Given the description of an element on the screen output the (x, y) to click on. 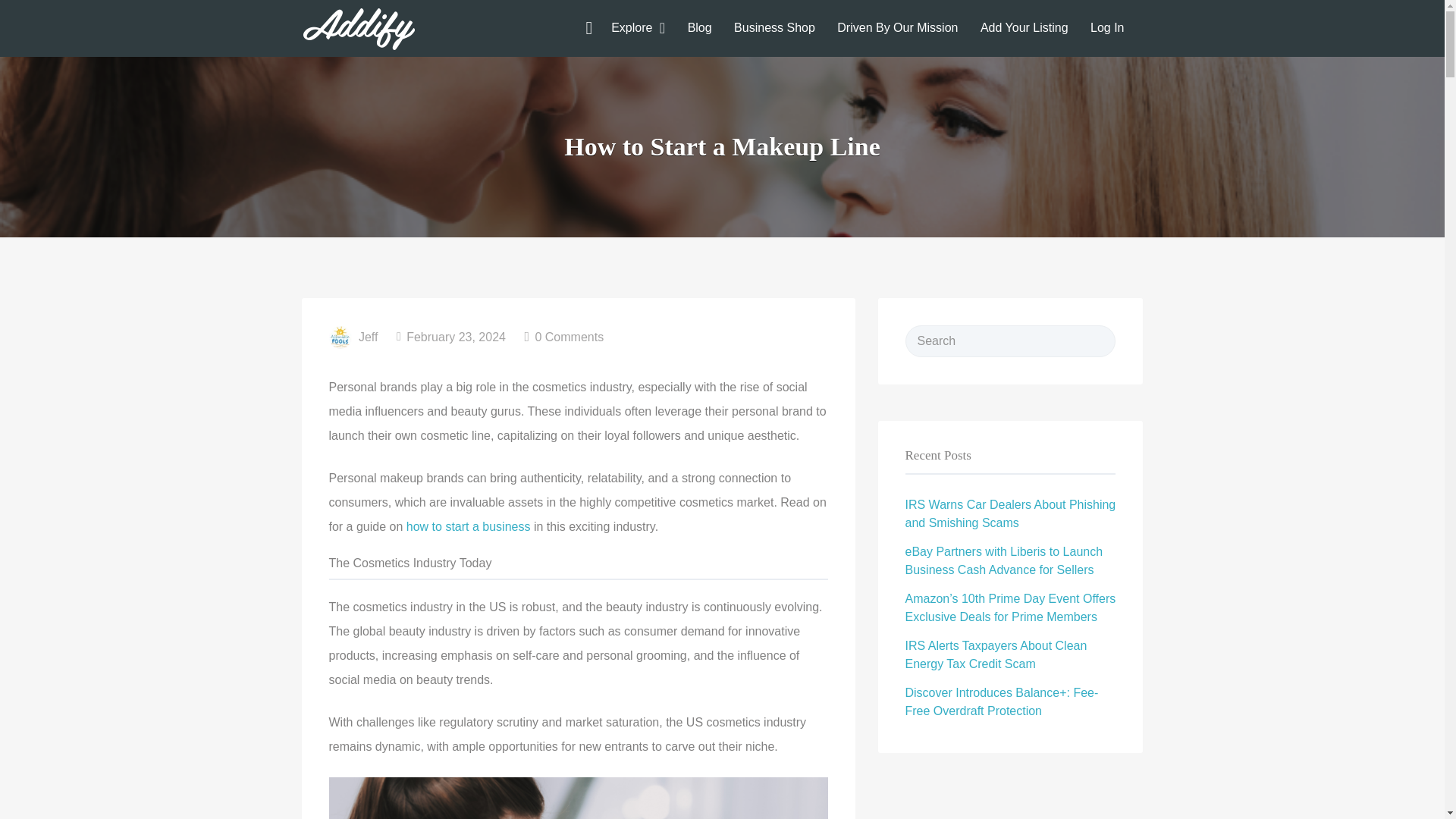
Search for: (1010, 341)
Add Your Listing (1023, 27)
Explore (631, 27)
Driven By Our Mission (897, 27)
Blog (699, 27)
Business Shop (774, 27)
Log In (1107, 27)
